Given the description of an element on the screen output the (x, y) to click on. 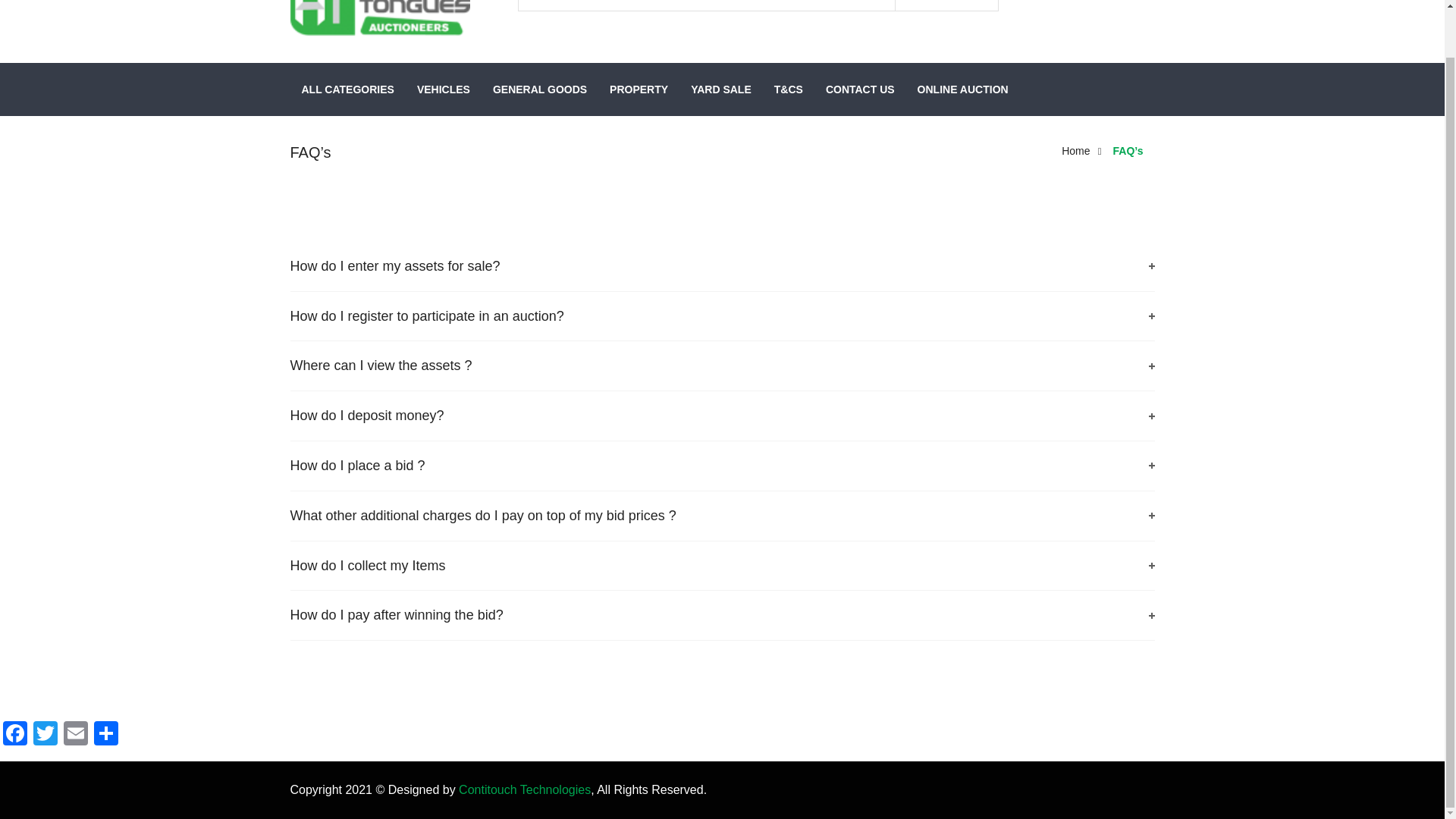
Email (75, 735)
PROPERTY (638, 89)
Twitter (45, 735)
GENERAL GOODS (539, 89)
YARD SALE (720, 89)
Facebook (15, 735)
VEHICLES (443, 89)
How do I register to participate in an auction? (721, 316)
Contitouch Technologies (524, 789)
ONLINE AUCTION (957, 89)
How do I collect my Items (721, 566)
CONTACT US (859, 89)
SEARCH (946, 5)
How do I enter my assets for sale? (721, 266)
